Given the description of an element on the screen output the (x, y) to click on. 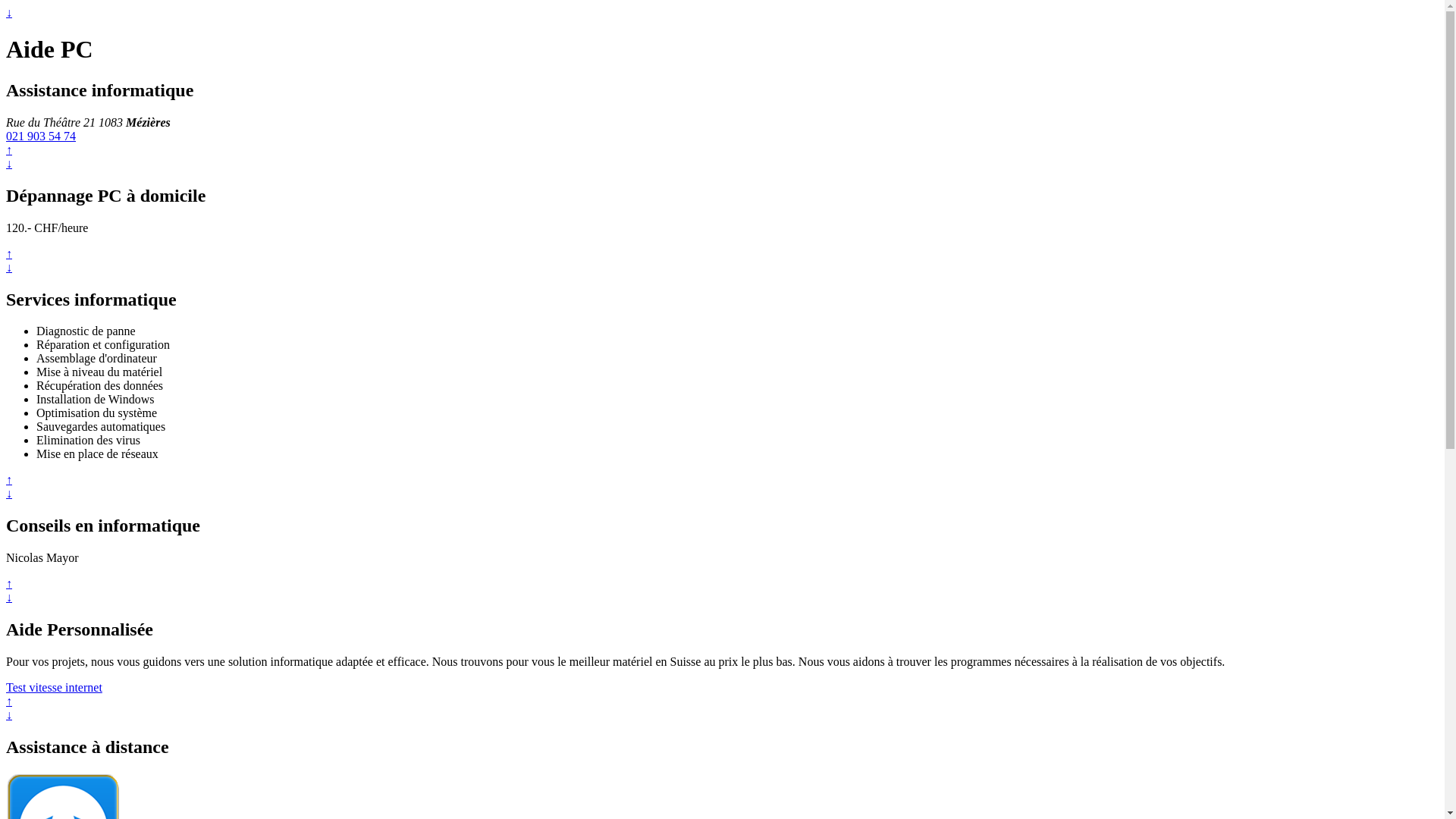
Test vitesse internet Element type: text (54, 686)
021 903 54 74 Element type: text (40, 135)
